Given the description of an element on the screen output the (x, y) to click on. 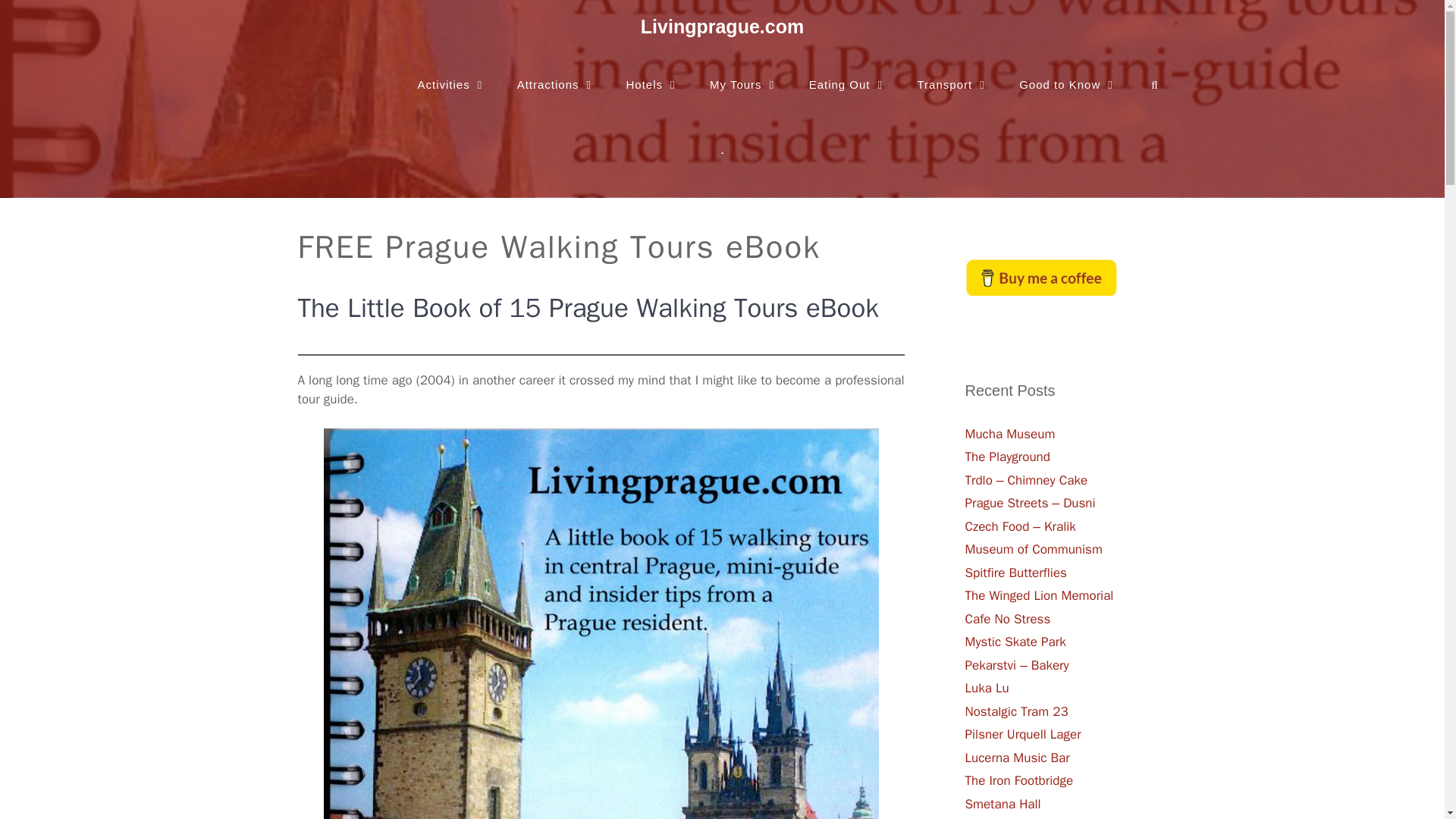
Attractions (556, 73)
Hotels (653, 73)
Livingprague.com (721, 25)
Activities (450, 73)
My Tours (743, 73)
